Given the description of an element on the screen output the (x, y) to click on. 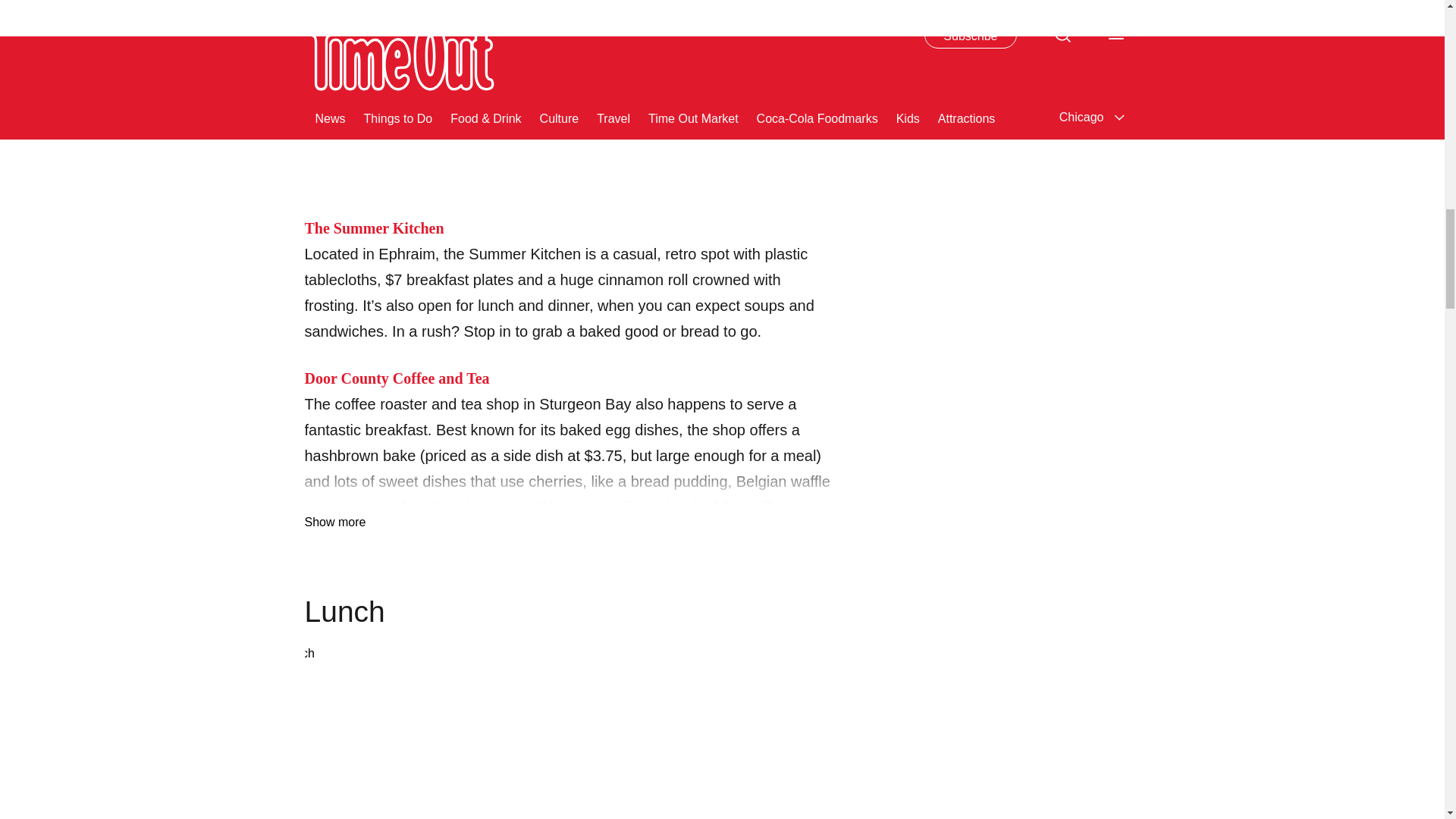
Lunch (568, 731)
Breakfast (568, 84)
